Given the description of an element on the screen output the (x, y) to click on. 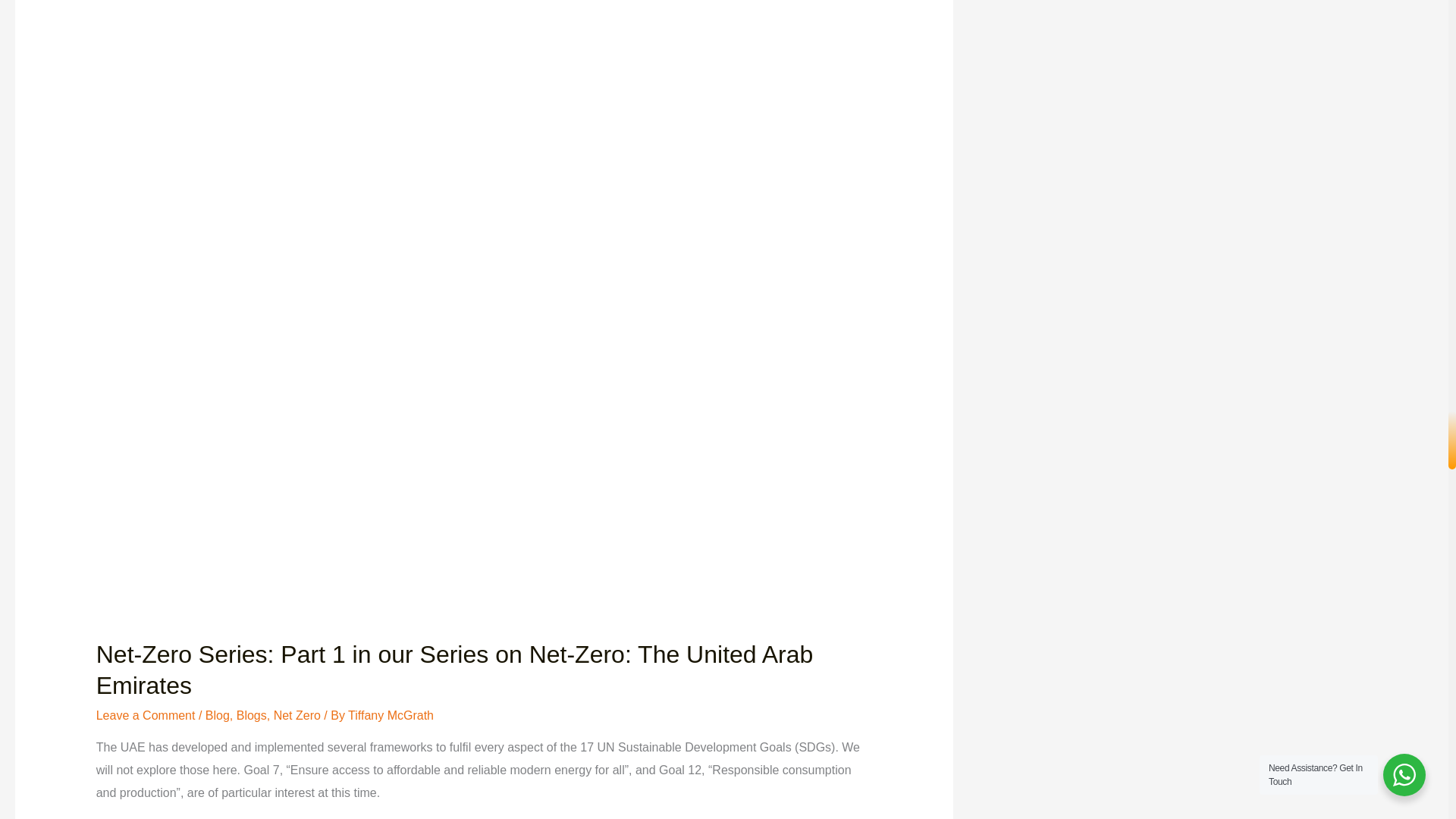
View all posts by Tiffany McGrath (390, 715)
